Given the description of an element on the screen output the (x, y) to click on. 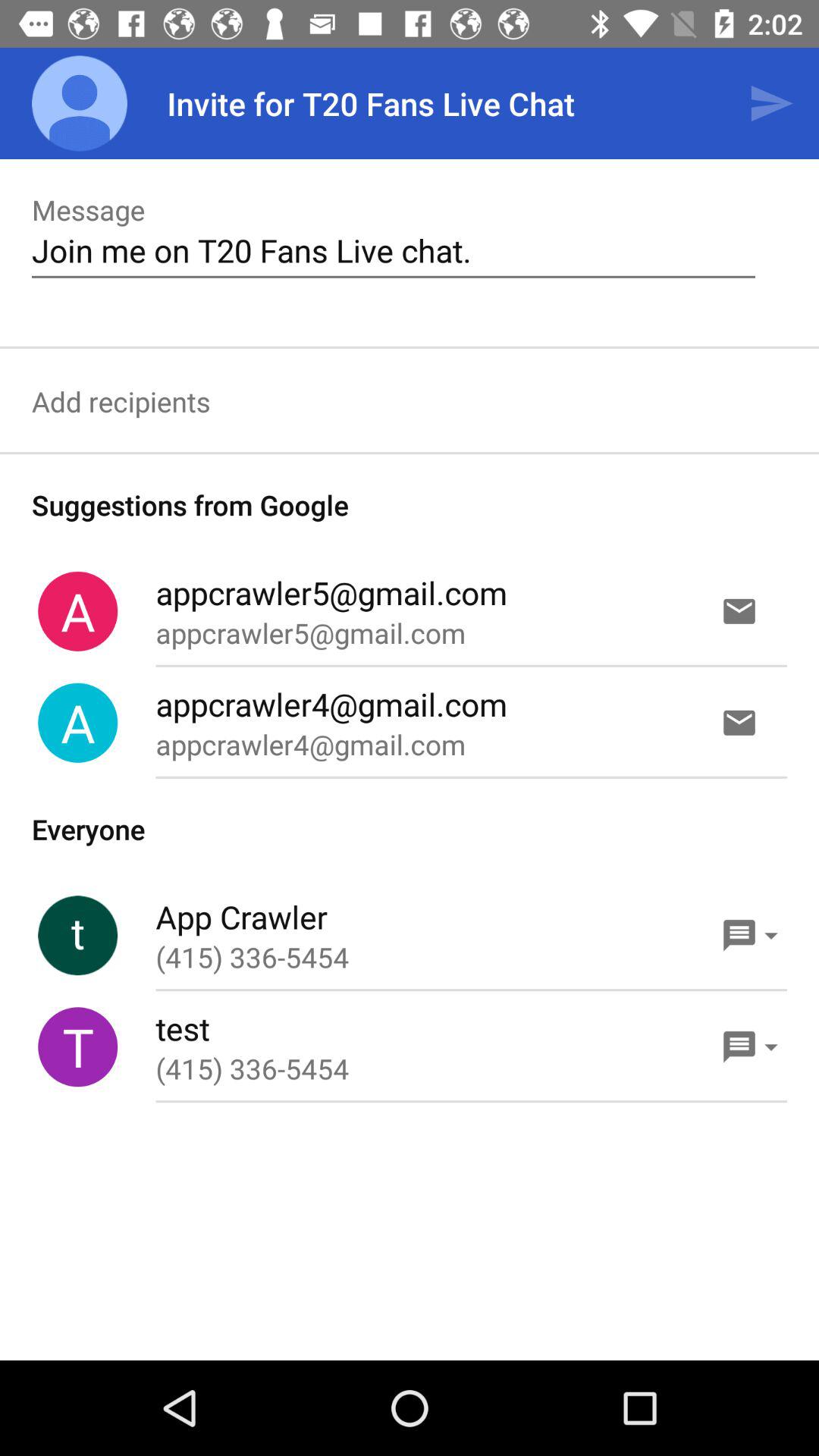
select the item below message icon (393, 249)
